Given the description of an element on the screen output the (x, y) to click on. 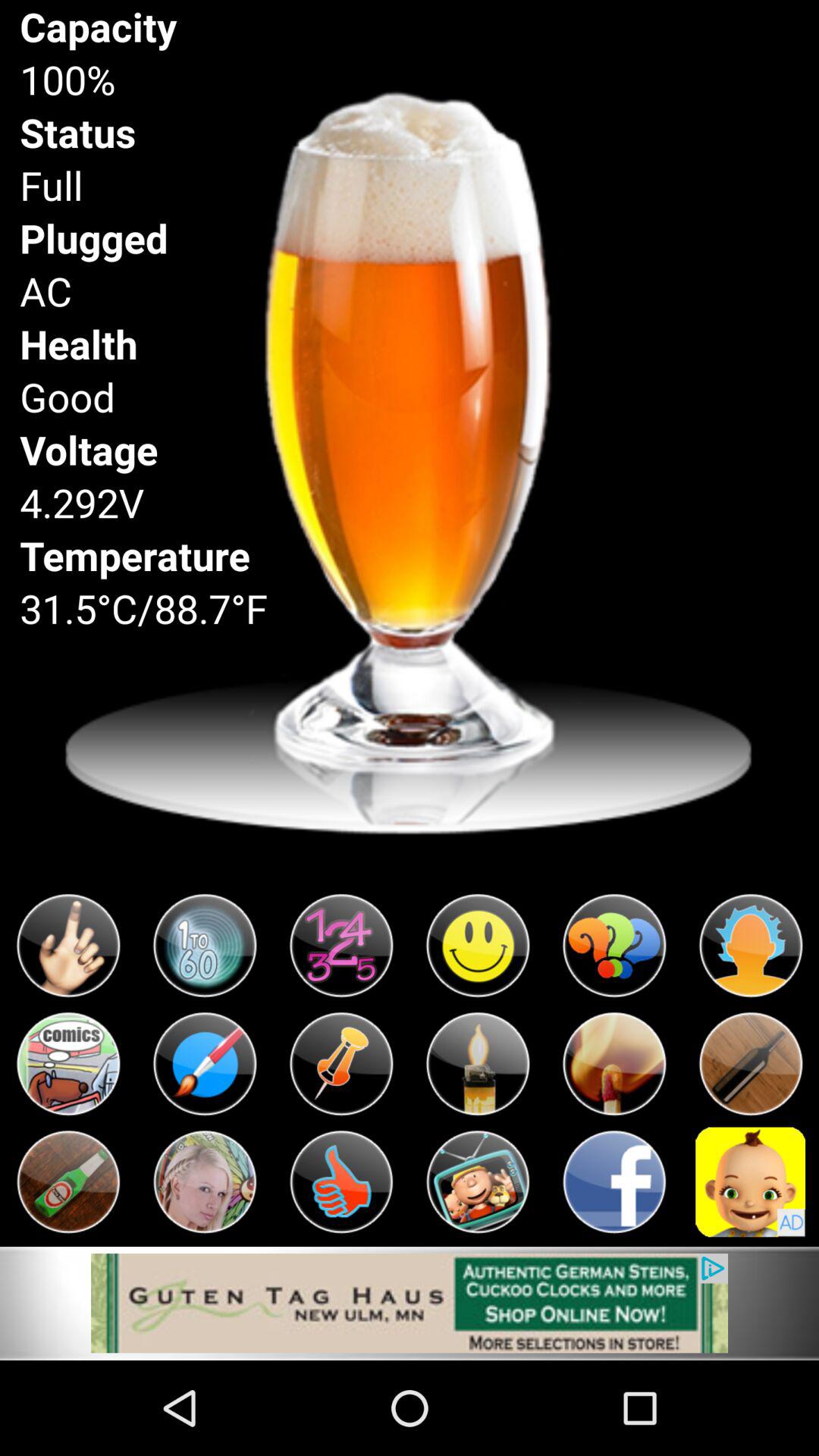
open advertisement (409, 1303)
